Given the description of an element on the screen output the (x, y) to click on. 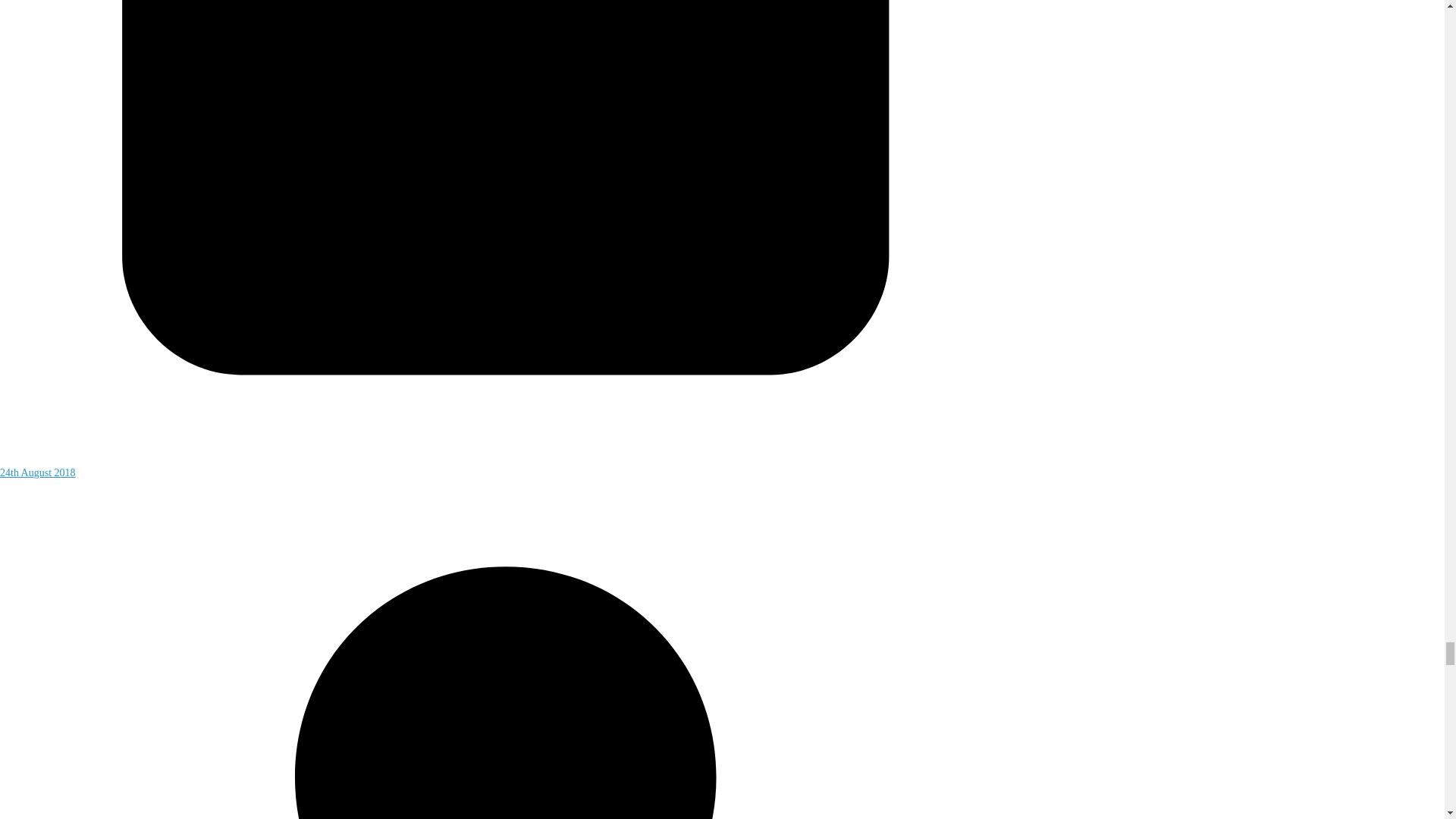
08:30 (505, 464)
